Given the description of an element on the screen output the (x, y) to click on. 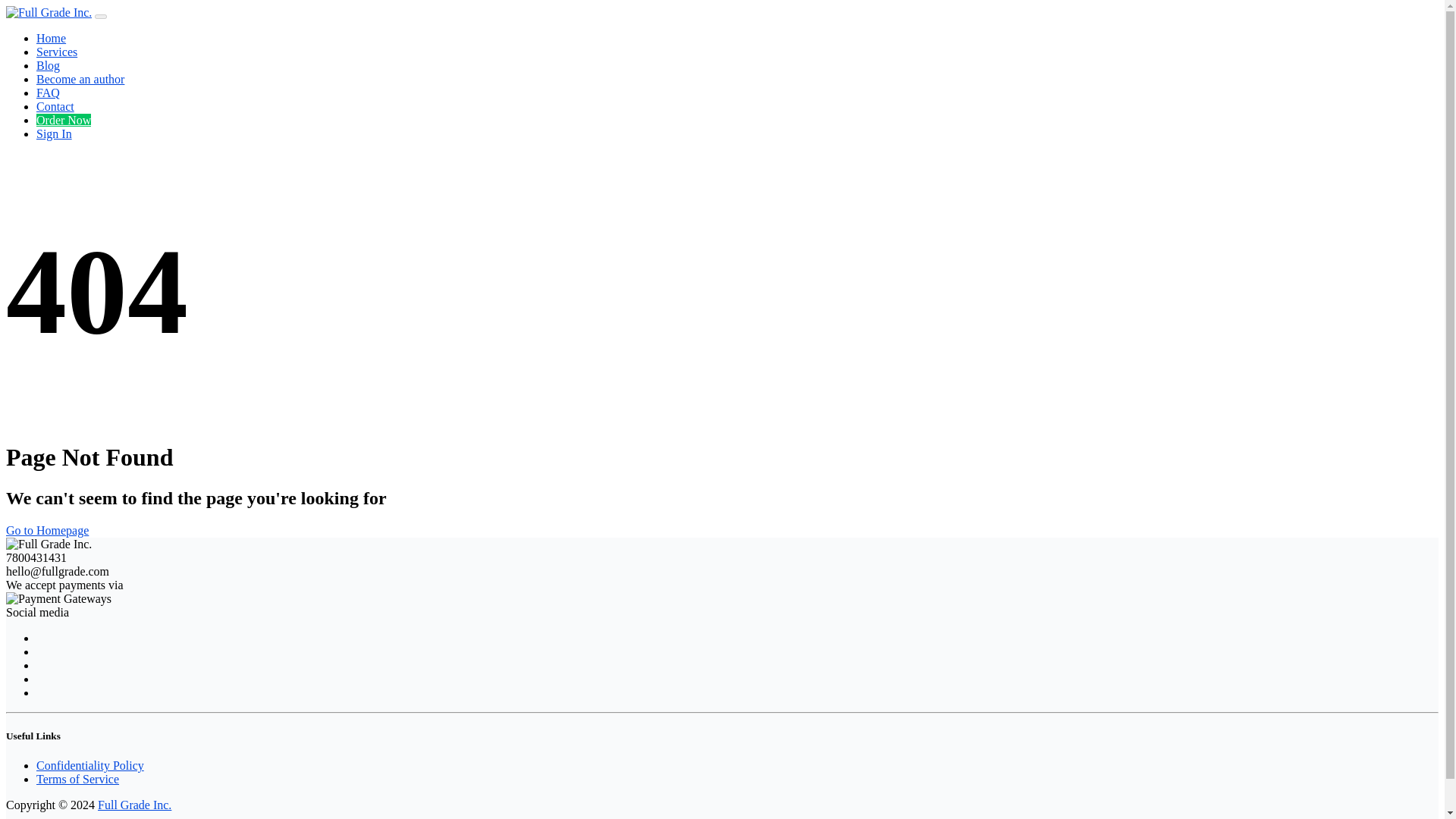
Full Grade Inc. (134, 804)
Go to Homepage (46, 530)
FAQ (47, 92)
Terms of Service (77, 779)
Become an author (79, 78)
Contact (55, 106)
Payment Gateways (58, 599)
Services (56, 51)
Order Now (63, 119)
Blog (47, 65)
Sign In (53, 133)
Home (50, 38)
Confidentiality Policy (90, 765)
